Given the description of an element on the screen output the (x, y) to click on. 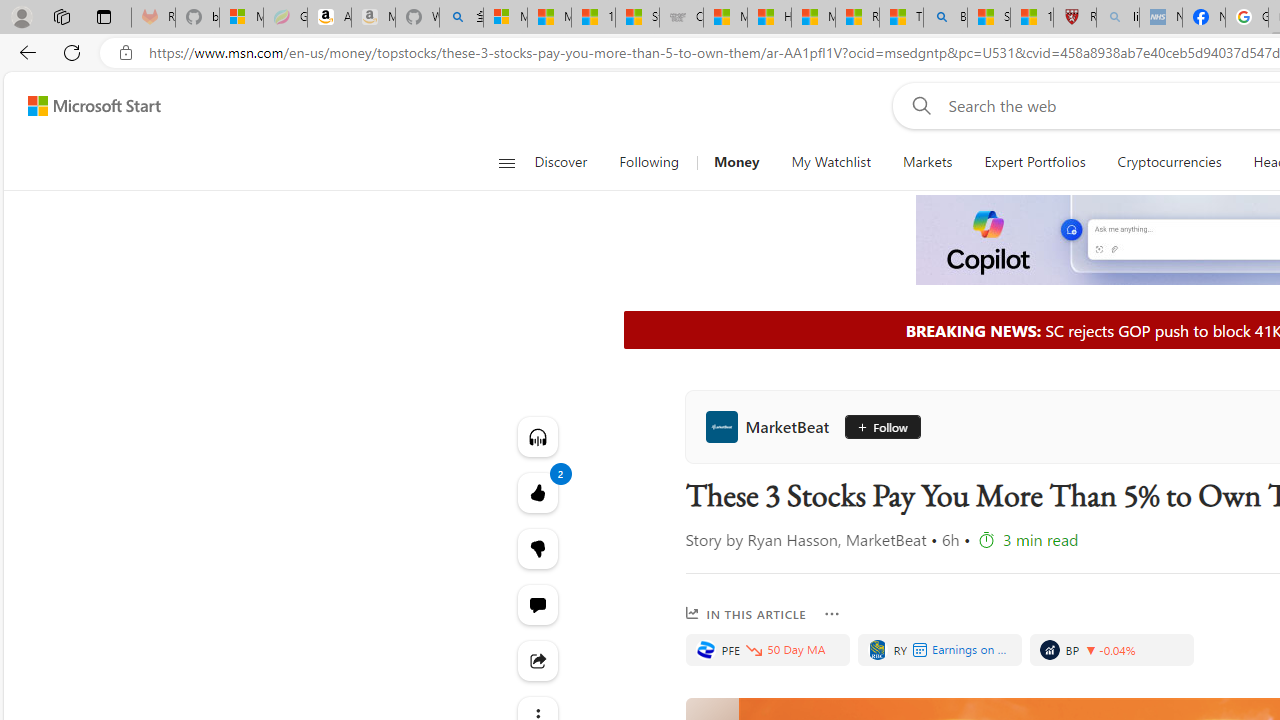
Follow (876, 426)
Class: at-item (537, 660)
2 Like (537, 492)
Listen to this article (537, 436)
